Given the description of an element on the screen output the (x, y) to click on. 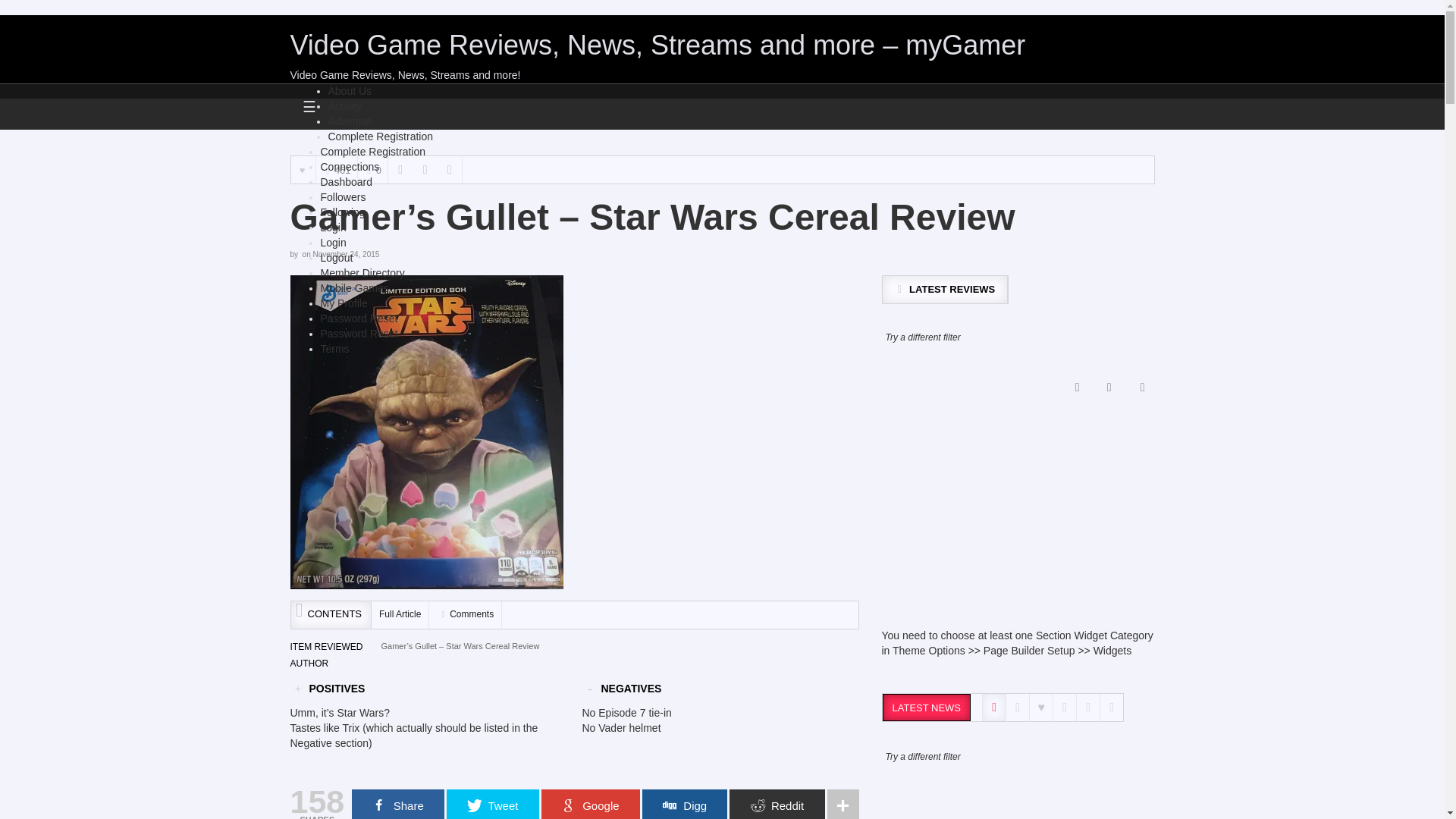
Activity (344, 105)
Complete Registration (379, 136)
Password Reset (358, 333)
My Profile (343, 303)
Logout (336, 257)
Followers (342, 196)
Advertise (349, 121)
Member Directory (362, 272)
About Us (349, 91)
Mobile Games (354, 287)
